Given the description of an element on the screen output the (x, y) to click on. 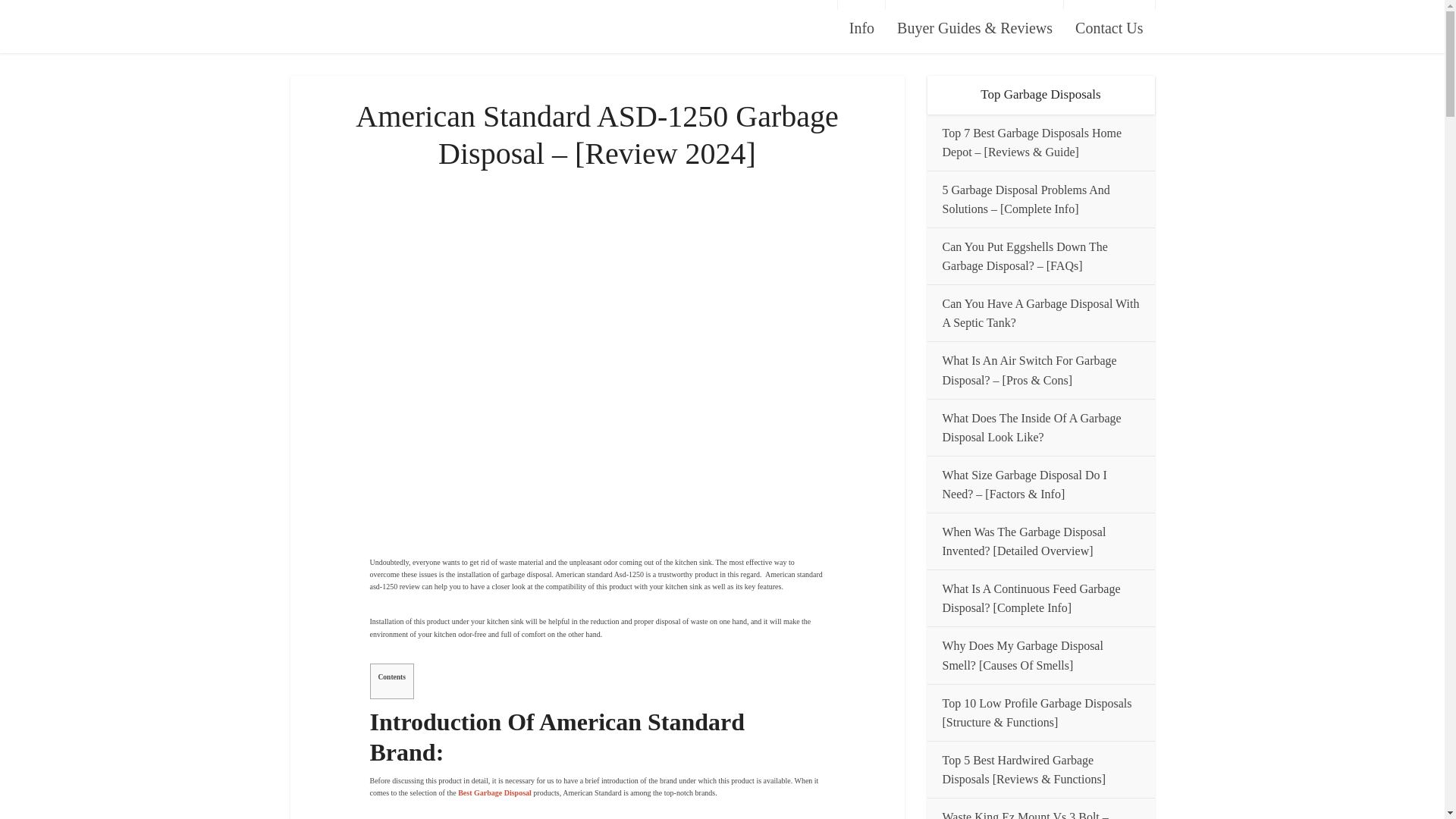
Contact Us (1109, 4)
Best Garbage Disposal (495, 792)
Info (861, 4)
Contact Us (1109, 28)
